Given the description of an element on the screen output the (x, y) to click on. 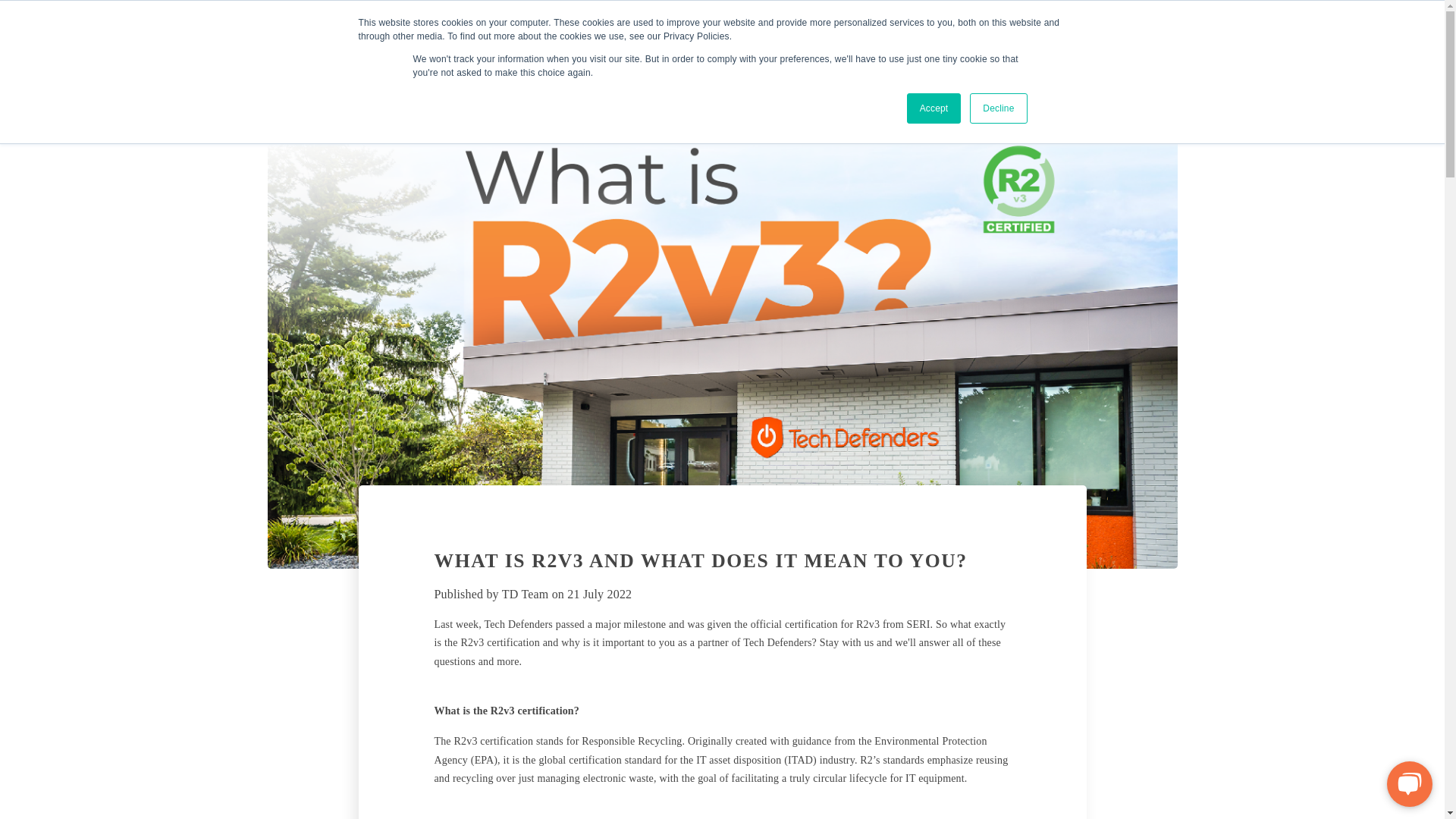
Enterprise (1026, 42)
K-12 Schools (935, 42)
TD-Logo-Long-WhiteText-Web-2 (352, 45)
Decline (997, 108)
TD Team (525, 594)
About Us (773, 42)
Contact Us (1139, 40)
Accept (933, 108)
Solutions (848, 42)
Contact Us (1139, 40)
